Given the description of an element on the screen output the (x, y) to click on. 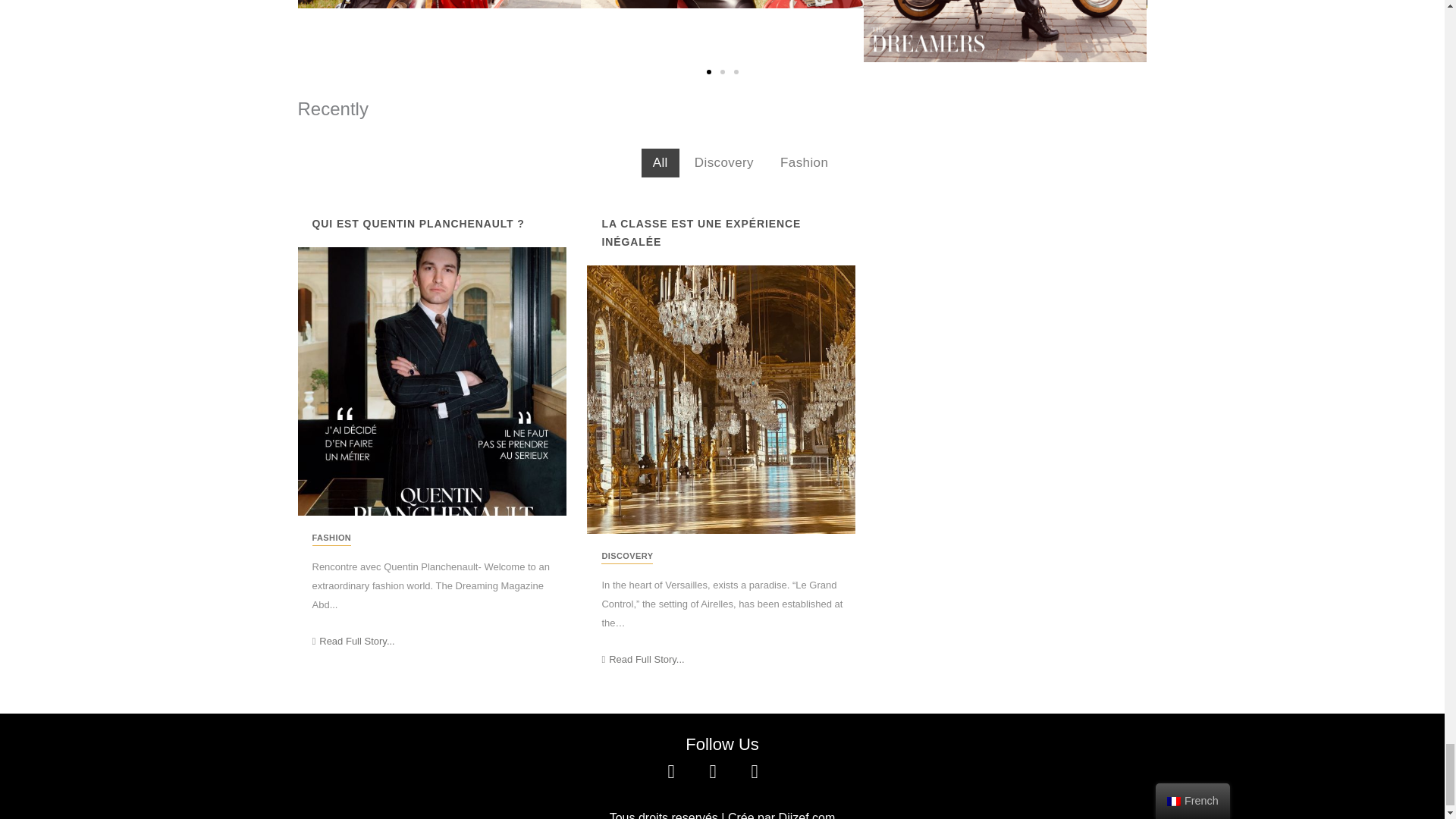
QUI EST QUENTIN PLANCHENAULT ? (414, 221)
DISCOVERY (626, 555)
FASHION (332, 537)
Read Full Story... (642, 659)
Read Full Story... (353, 641)
